Given the description of an element on the screen output the (x, y) to click on. 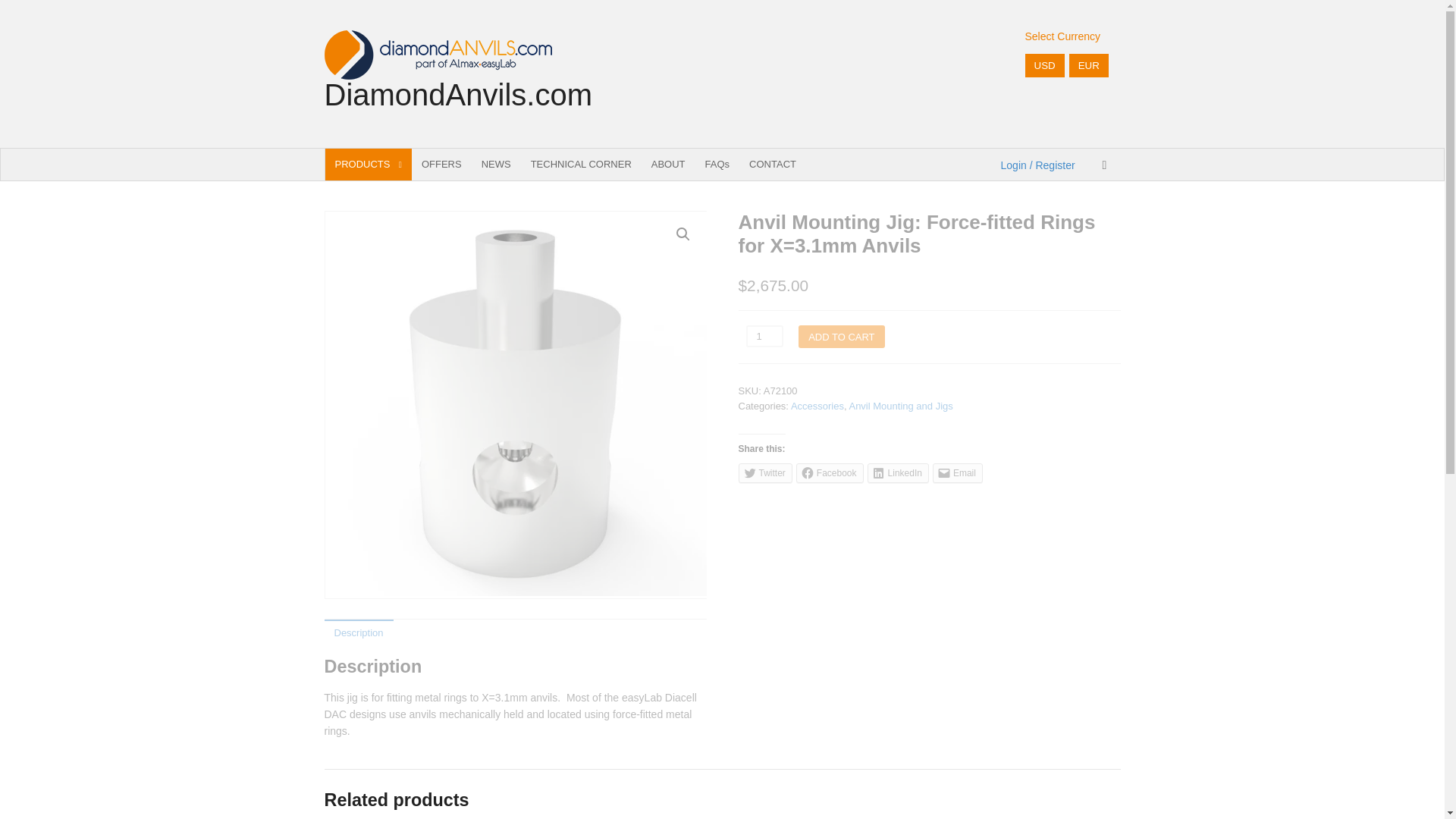
DiamondAnvils.com (458, 94)
Qty (764, 336)
Click to email this to a friend (957, 473)
Click to share on LinkedIn (897, 473)
1 (764, 336)
View your shopping cart (1105, 164)
PRODUCTS (367, 164)
USD (1044, 65)
Click to share on Twitter (765, 473)
Click to share on Facebook (829, 473)
